Given the description of an element on the screen output the (x, y) to click on. 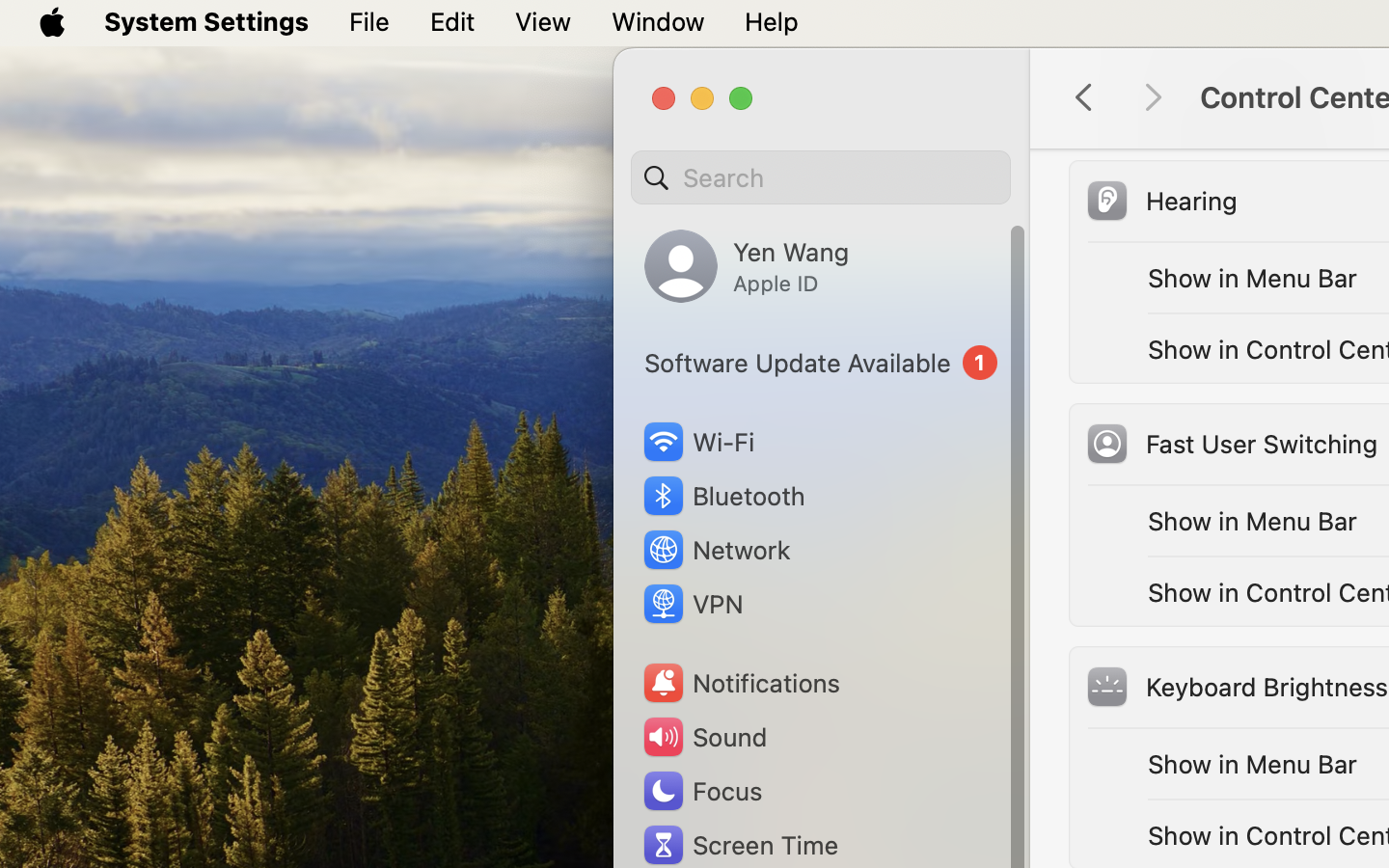
Keyboard Brightness Element type: AXStaticText (1236, 686)
Bluetooth Element type: AXStaticText (723, 495)
VPN Element type: AXStaticText (691, 603)
Sound Element type: AXStaticText (703, 736)
Hearing Element type: AXStaticText (1160, 200)
